Given the description of an element on the screen output the (x, y) to click on. 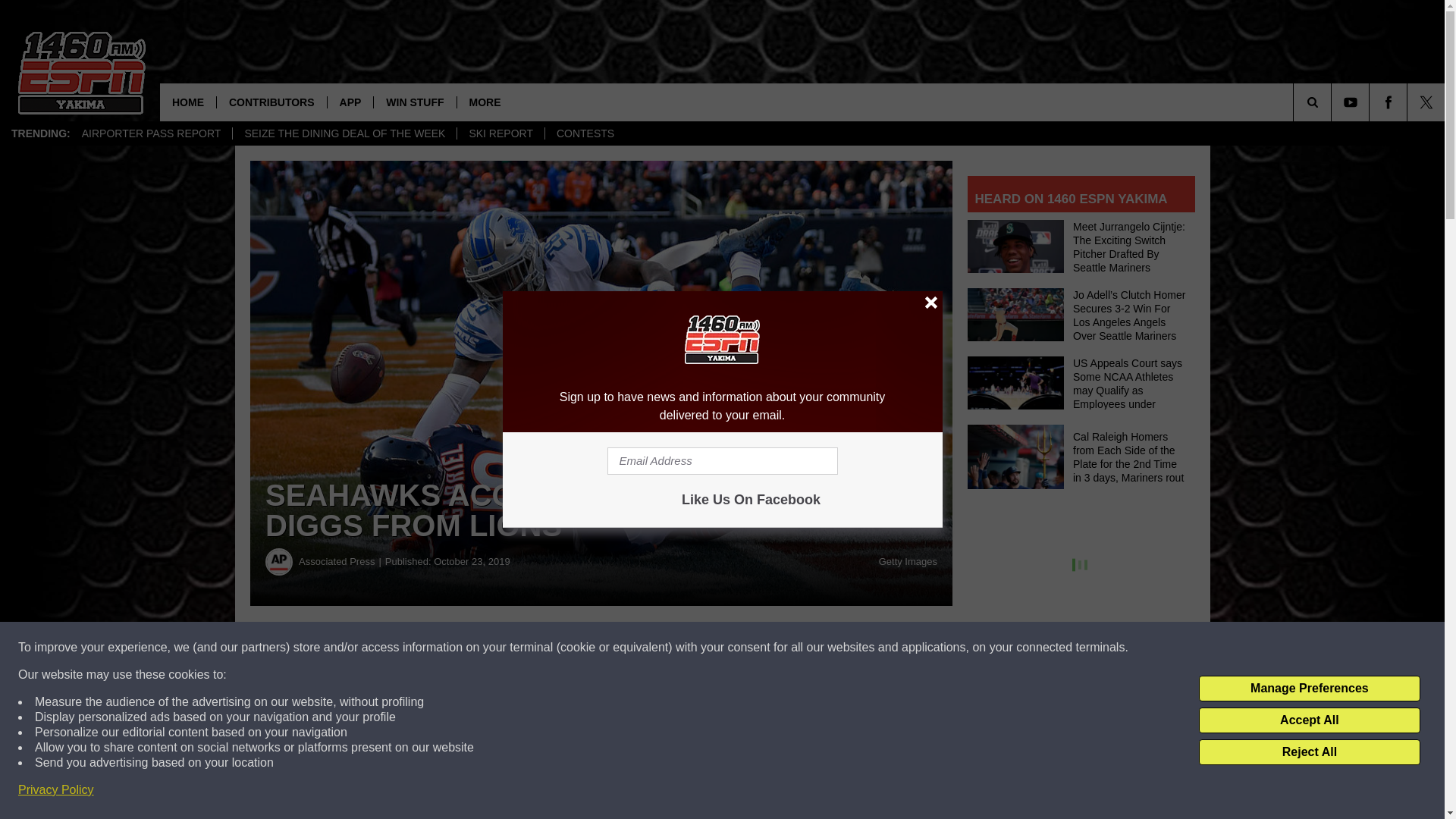
Privacy Policy (55, 789)
Share on Facebook (460, 647)
Share on Twitter (741, 647)
HOME (187, 102)
CONTESTS (585, 133)
SEARCH (1333, 102)
Email Address (722, 461)
AIRPORTER PASS REPORT (150, 133)
SKI REPORT (500, 133)
Manage Preferences (1309, 688)
Accept All (1309, 720)
MORE (485, 102)
SEIZE THE DINING DEAL OF THE WEEK (344, 133)
Reject All (1309, 751)
APP (350, 102)
